Given the description of an element on the screen output the (x, y) to click on. 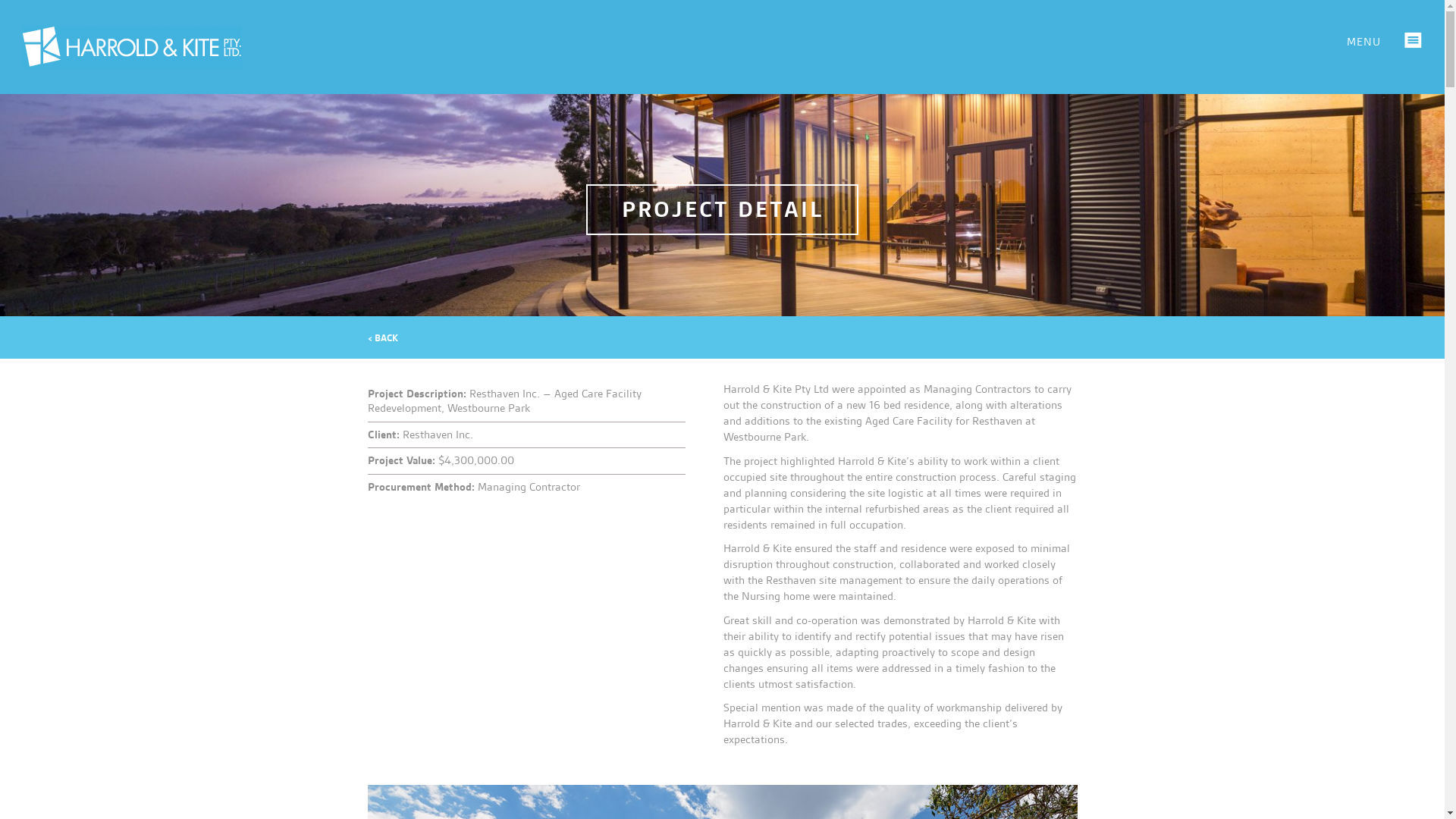
< BACK Element type: text (382, 337)
Harrold & Kite - Home page Element type: hover (131, 51)
MENU Element type: text (1383, 42)
